Given the description of an element on the screen output the (x, y) to click on. 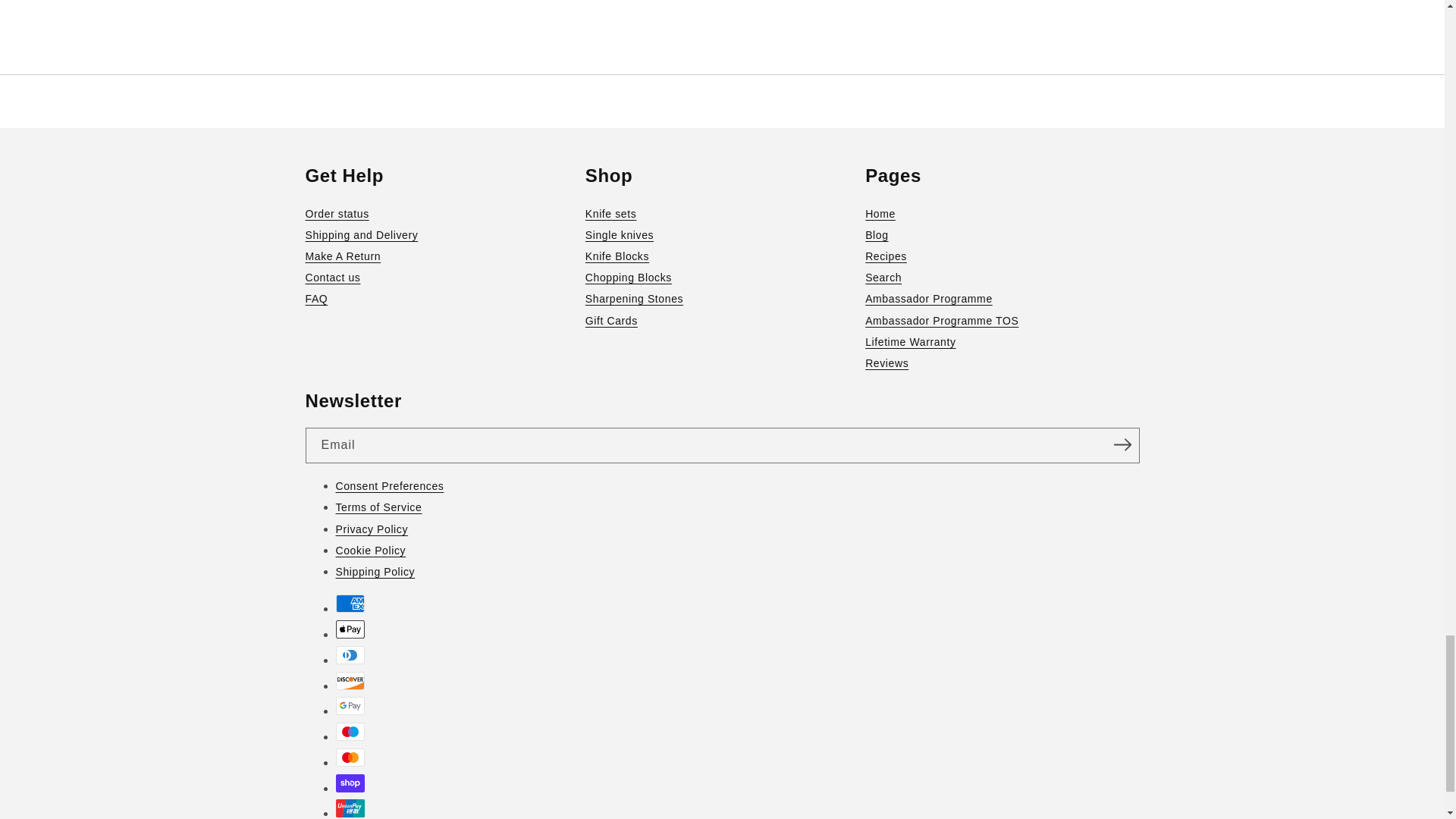
Maestro (349, 731)
Shop Pay (349, 782)
Google Pay (349, 705)
Discover (349, 680)
Mastercard (349, 757)
American Express (349, 603)
Shipping Policy (736, 571)
Cookie Policy (736, 550)
Apple Pay (349, 628)
Privacy Policy (736, 528)
